Given the description of an element on the screen output the (x, y) to click on. 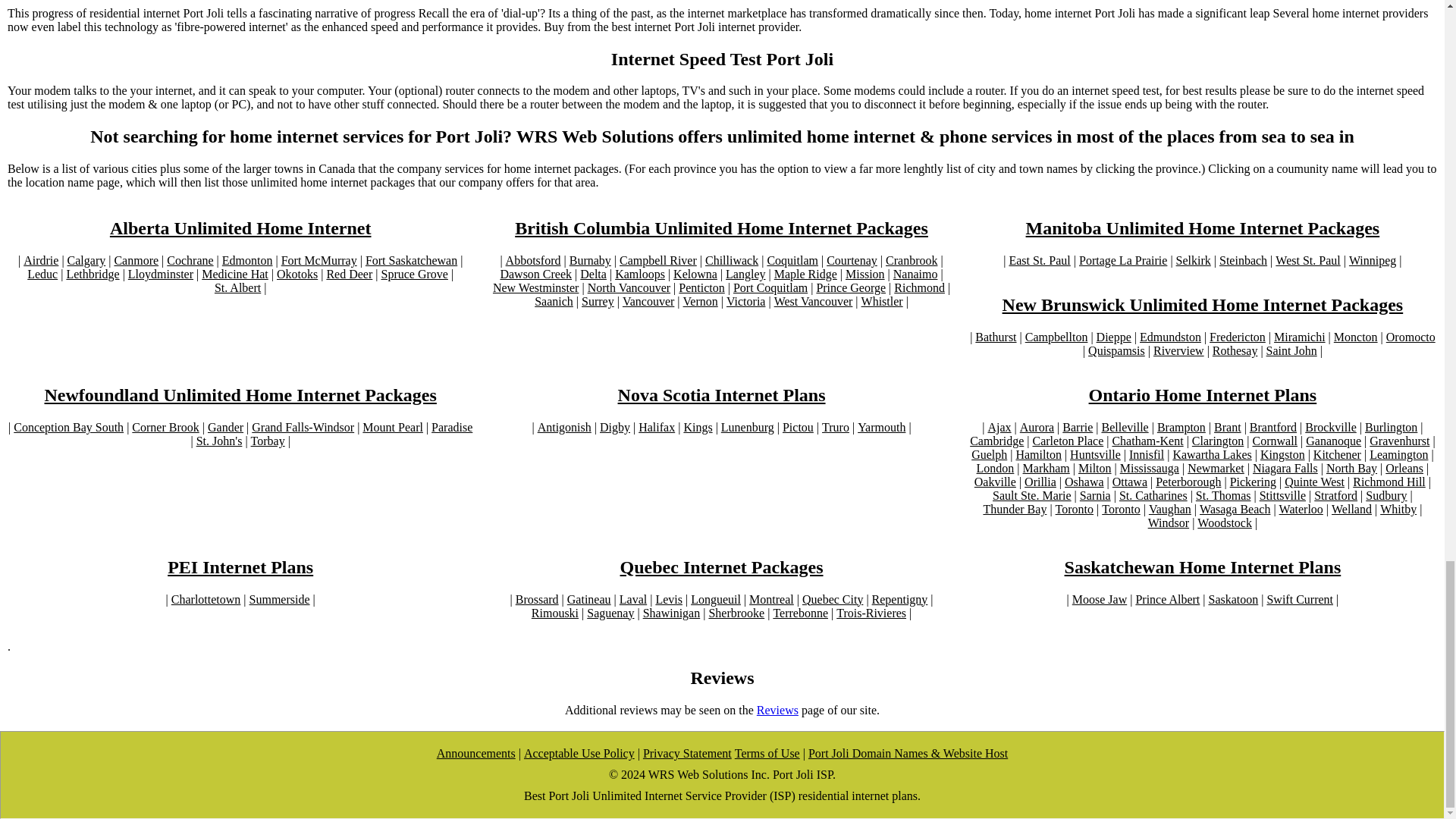
Lloydminster (160, 274)
Okotoks (296, 274)
Fort McMurray (318, 260)
Fort Saskatchewan (411, 260)
Canmore (135, 260)
Leduc (42, 274)
Edmonton (247, 260)
Lethbridge (92, 274)
St. Albert (237, 287)
Airdrie (40, 260)
